Given the description of an element on the screen output the (x, y) to click on. 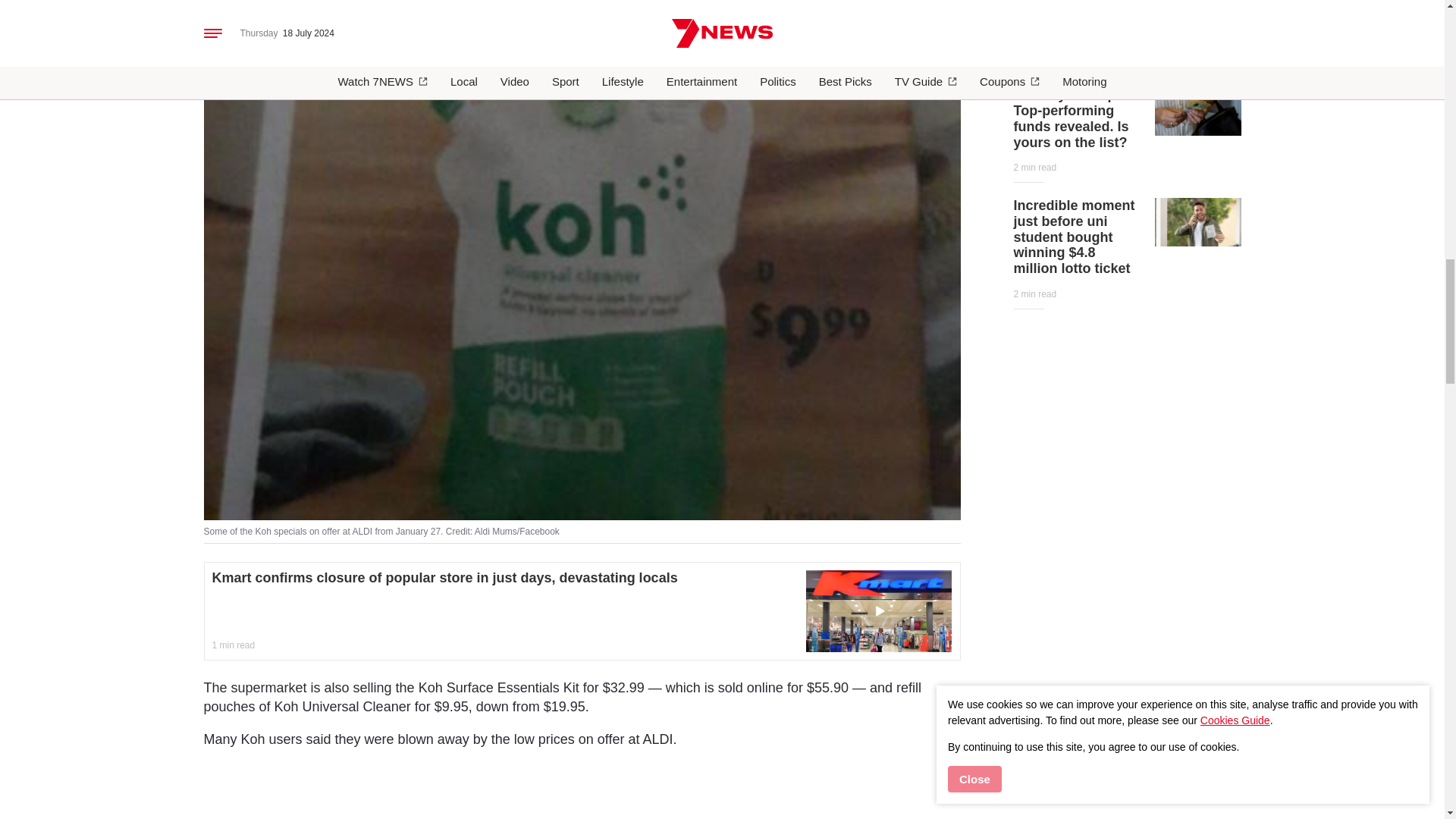
Video (878, 610)
